Given the description of an element on the screen output the (x, y) to click on. 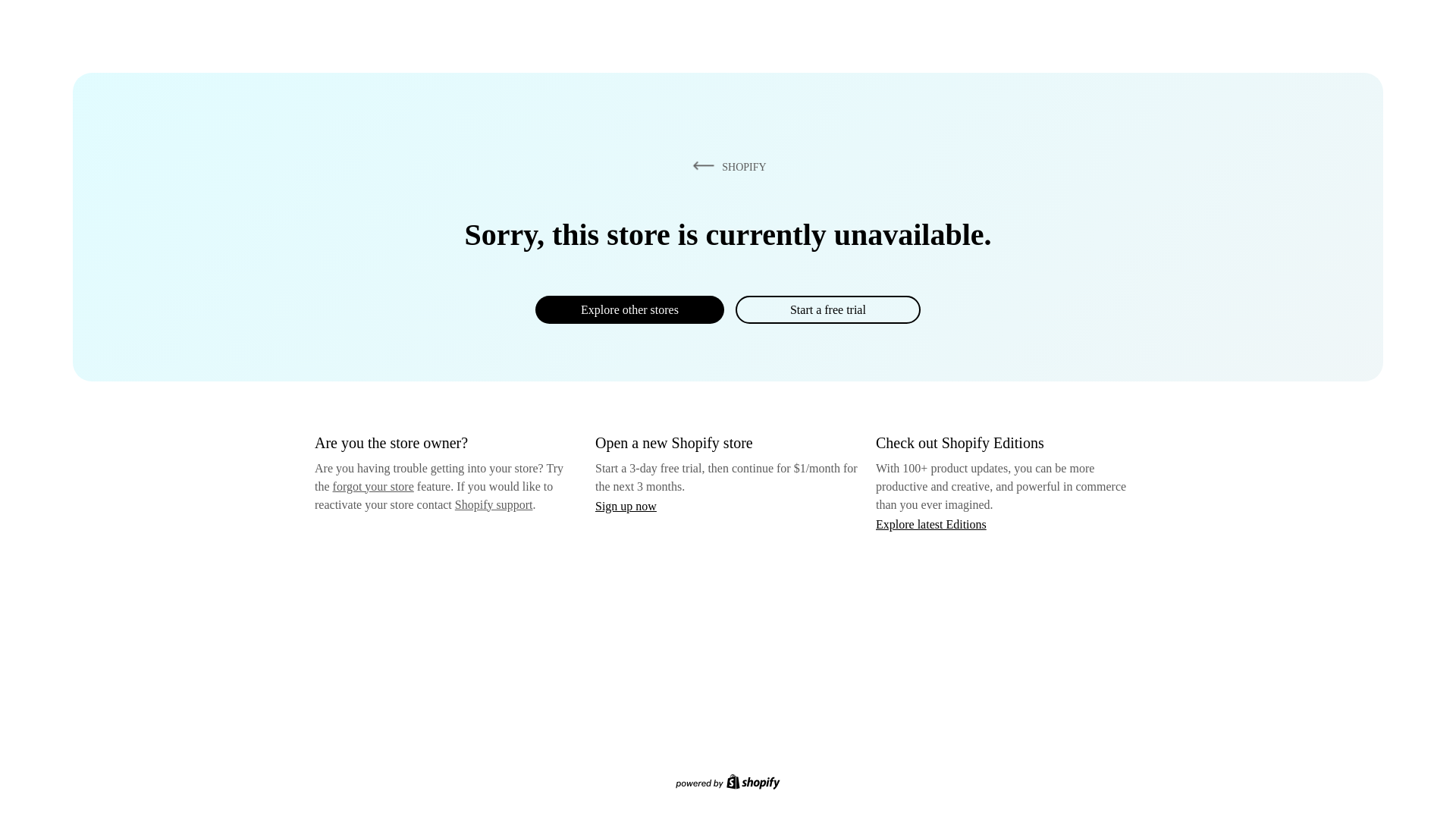
Explore other stores (629, 309)
Shopify support (493, 504)
Explore latest Editions (931, 523)
forgot your store (373, 486)
SHOPIFY (726, 166)
Start a free trial (827, 309)
Sign up now (625, 505)
